Given the description of an element on the screen output the (x, y) to click on. 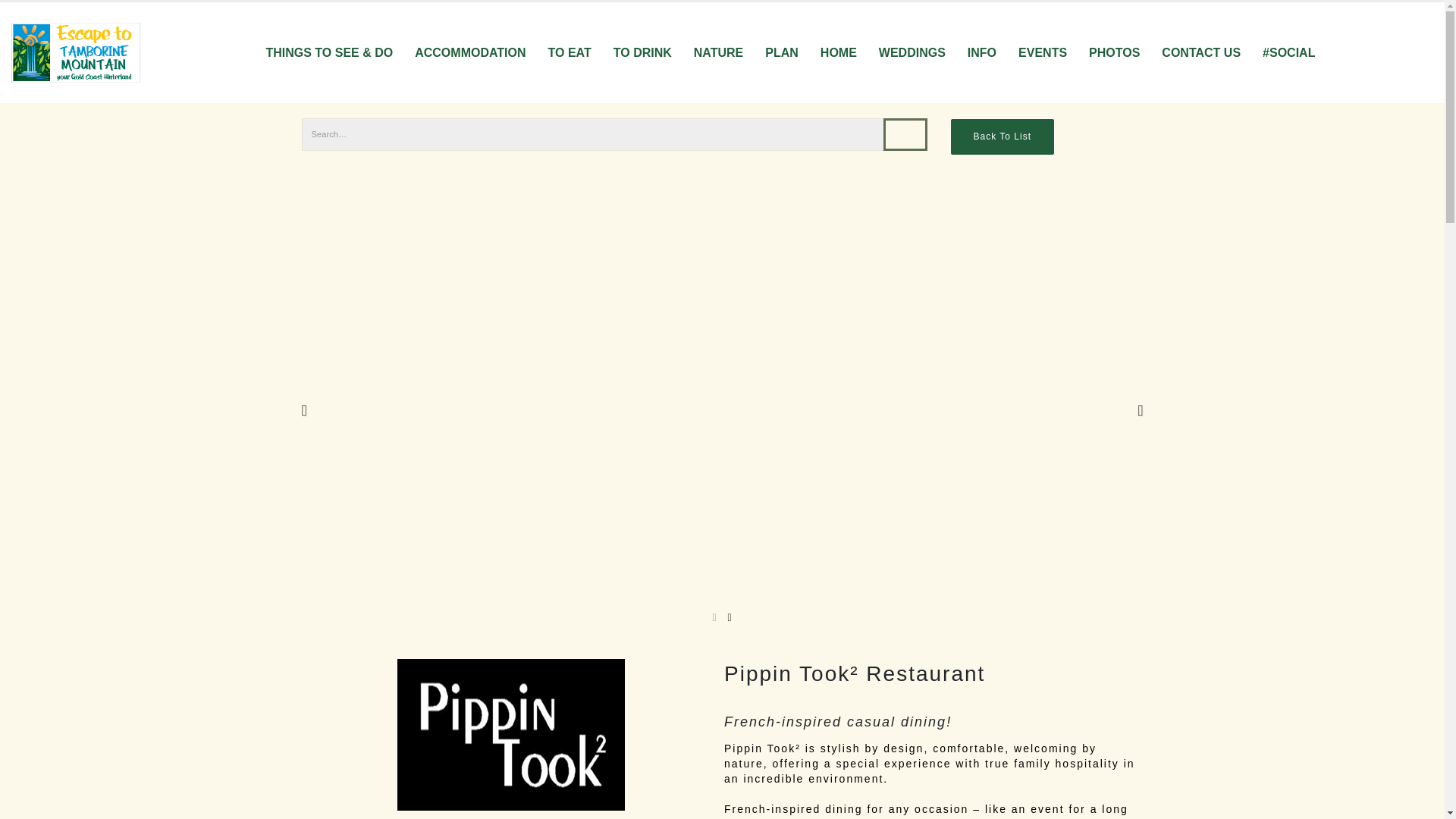
ACCOMMODATION (469, 52)
HOME (838, 52)
PLAN (781, 52)
Pippin-Took-2-Logo-300w (510, 734)
NATURE (718, 52)
PHOTOS (1114, 52)
TO EAT (569, 52)
INFO (981, 52)
Escape to Tamborine Mountain - The Green Behind the Gold (75, 52)
CONTACT US (1200, 52)
TO DRINK (642, 52)
WEDDINGS (911, 52)
Back To List (1001, 136)
EVENTS (1042, 52)
